Given the description of an element on the screen output the (x, y) to click on. 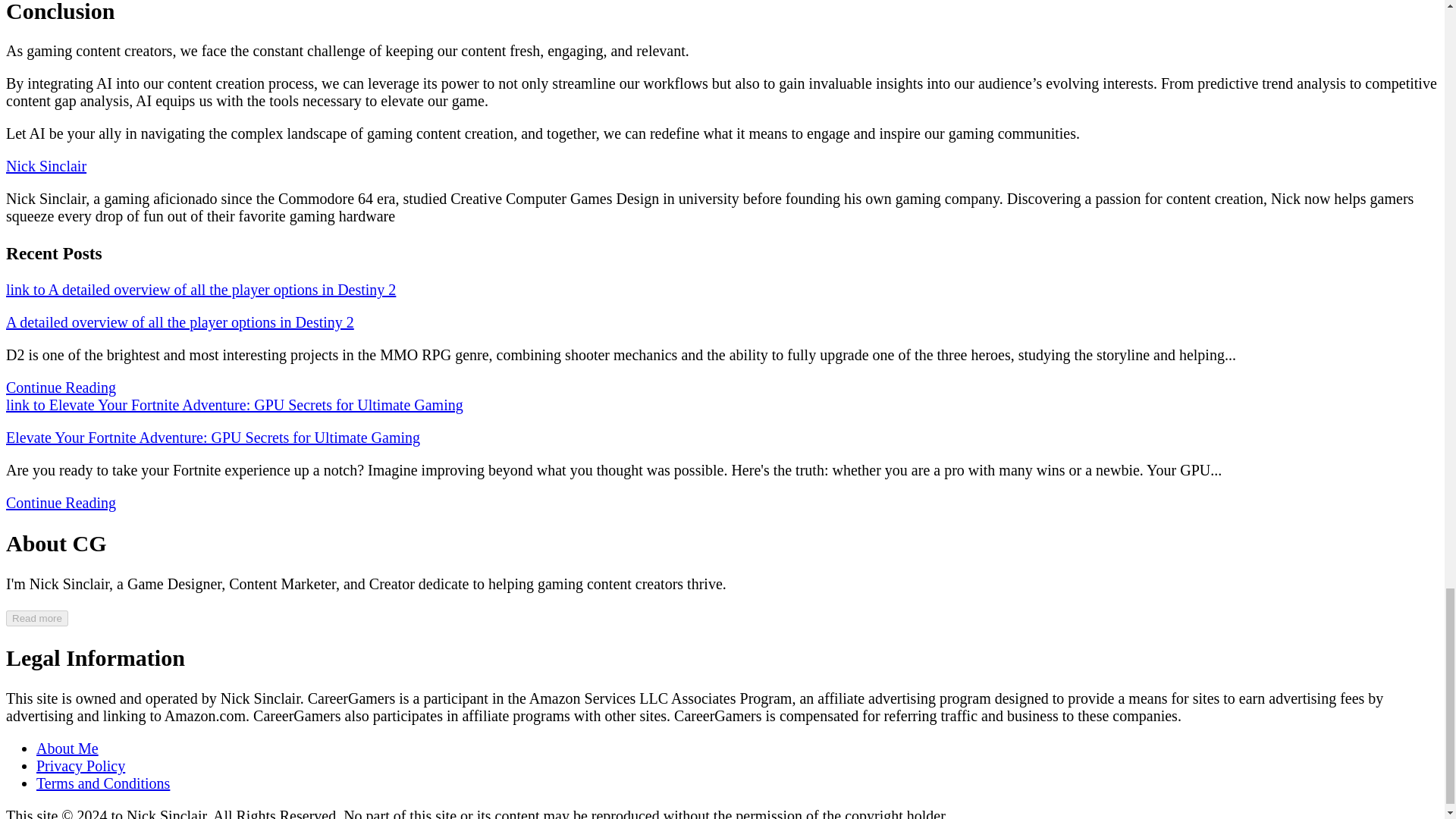
Privacy Policy (80, 765)
Terms and Conditions (103, 782)
Read more (36, 618)
Continue Reading (60, 502)
A detailed overview of all the player options in Destiny 2 (179, 321)
Nick Sinclair (45, 166)
About Me (67, 748)
Continue Reading (60, 387)
